Given the description of an element on the screen output the (x, y) to click on. 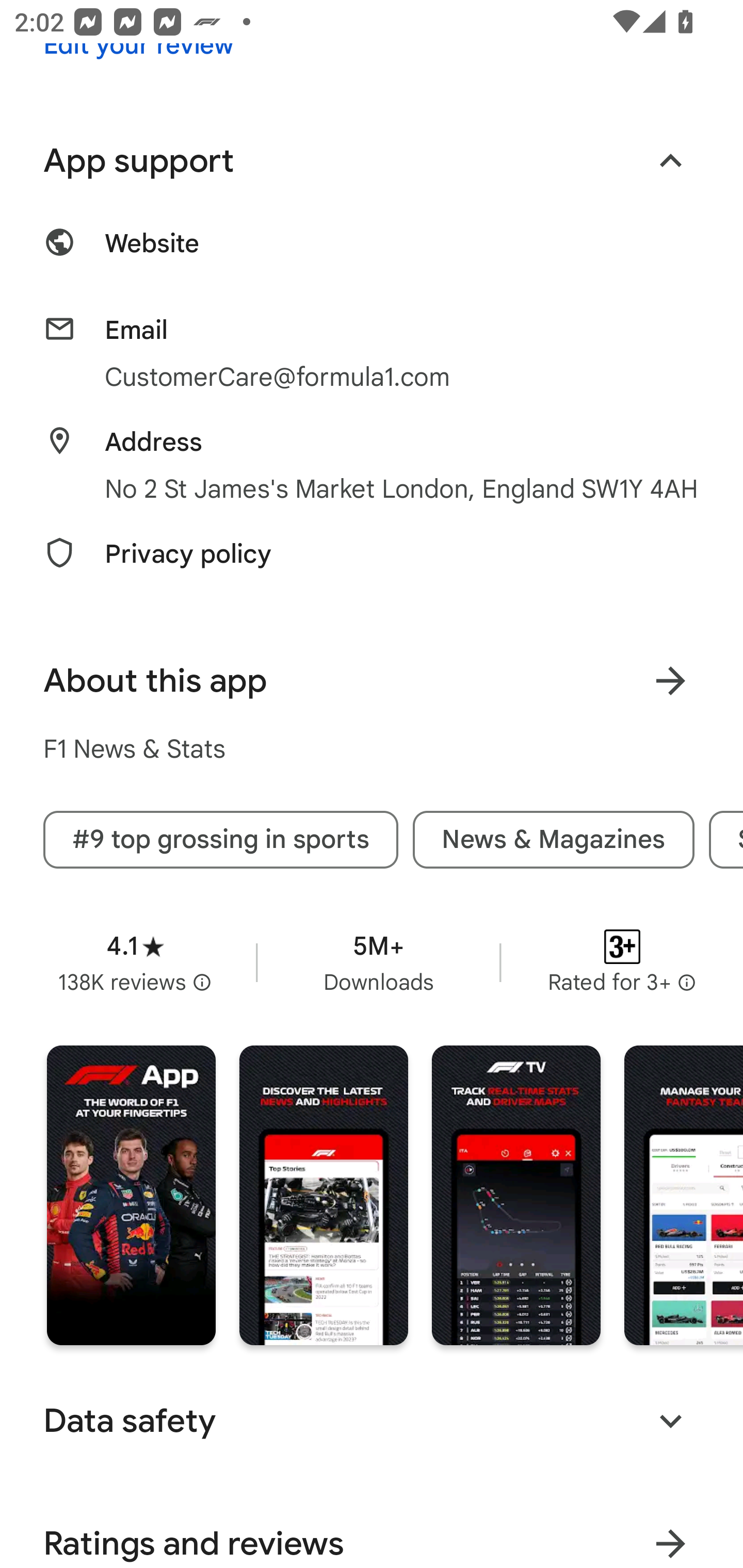
App support Collapse (371, 160)
Collapse (670, 160)
Website (371, 254)
Email CustomerCare@formula1.com (371, 353)
Privacy policy (371, 565)
About this app Learn more About this app (371, 680)
Learn more About this app (670, 681)
#9 top grossing in sports tag (220, 839)
News & Magazines tag (553, 839)
Average rating 4.1 stars in 138 thousand reviews (135, 962)
Content rating Rated for 3+ (622, 962)
Screenshot "1" of "6" (130, 1195)
Screenshot "2" of "6" (323, 1195)
Screenshot "3" of "6" (515, 1195)
Screenshot "4" of "6" (683, 1195)
Data safety Expand (371, 1420)
Expand (670, 1421)
Ratings and reviews View all ratings and reviews (371, 1530)
View all ratings and reviews (670, 1534)
